Given the description of an element on the screen output the (x, y) to click on. 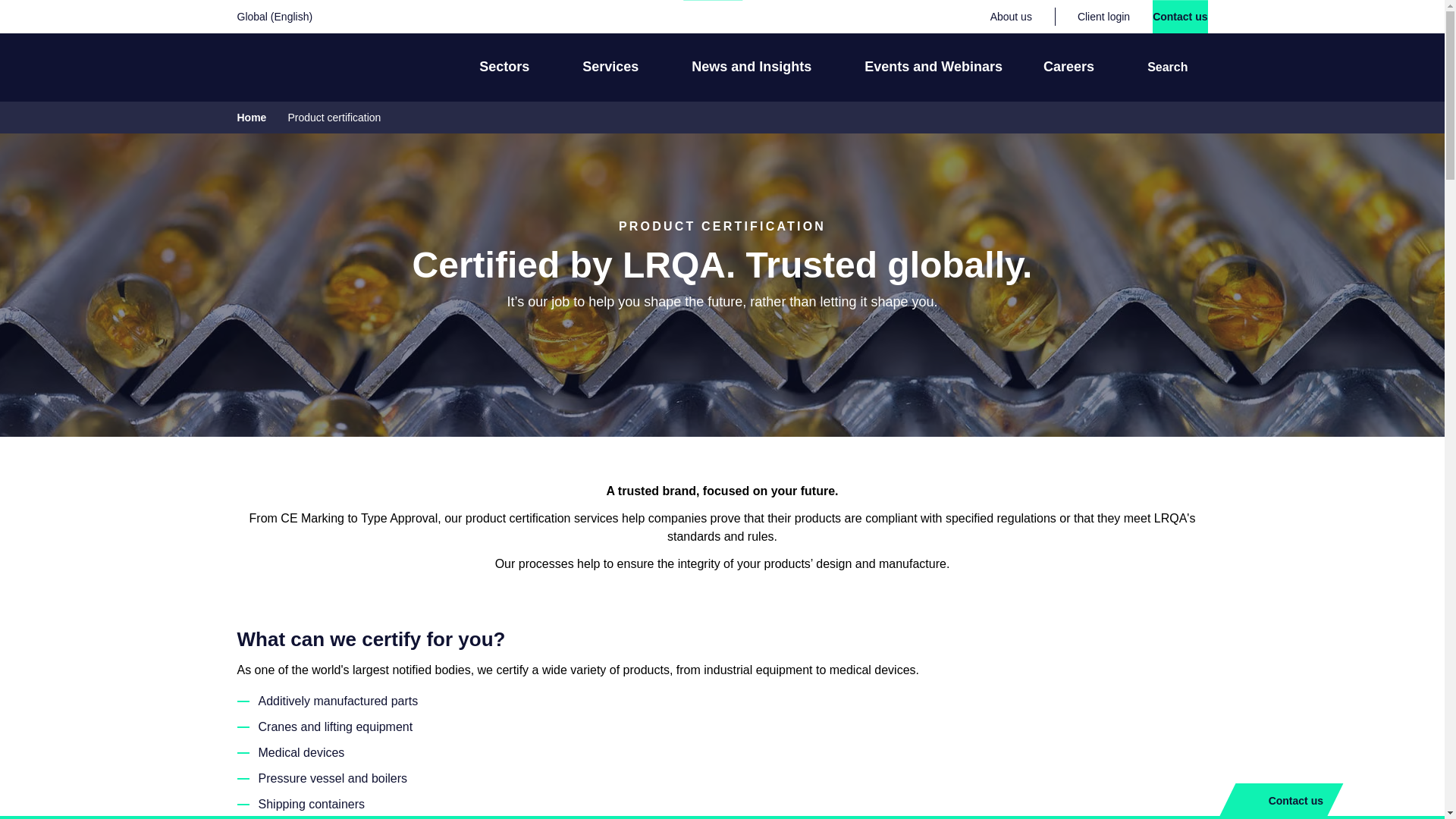
About us (1011, 16)
Contact us (1180, 16)
Client login (1103, 16)
